Given the description of an element on the screen output the (x, y) to click on. 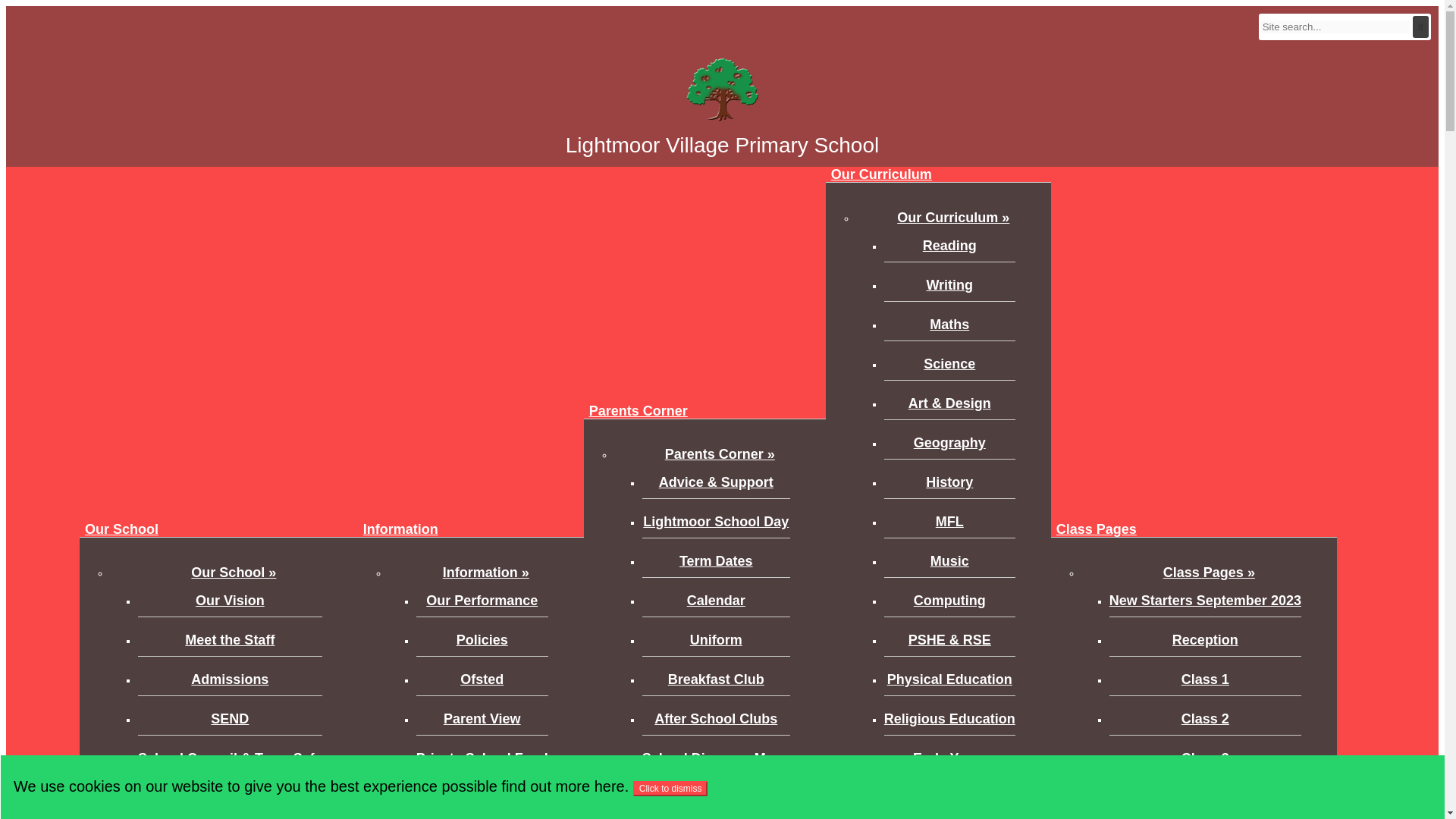
Submit (1420, 26)
Click to dismiss (670, 788)
Meet the Staff (229, 644)
Our Vision (229, 604)
Uniform (716, 644)
Find out more about how we use cookies on our website (562, 786)
SEND (229, 723)
Admissions (229, 683)
Homework (716, 802)
After School Clubs (716, 723)
School Dinners - Menu (716, 762)
Calendar (716, 604)
Our School (121, 529)
Our Curriculum (881, 174)
Parents Corner (638, 410)
